Given the description of an element on the screen output the (x, y) to click on. 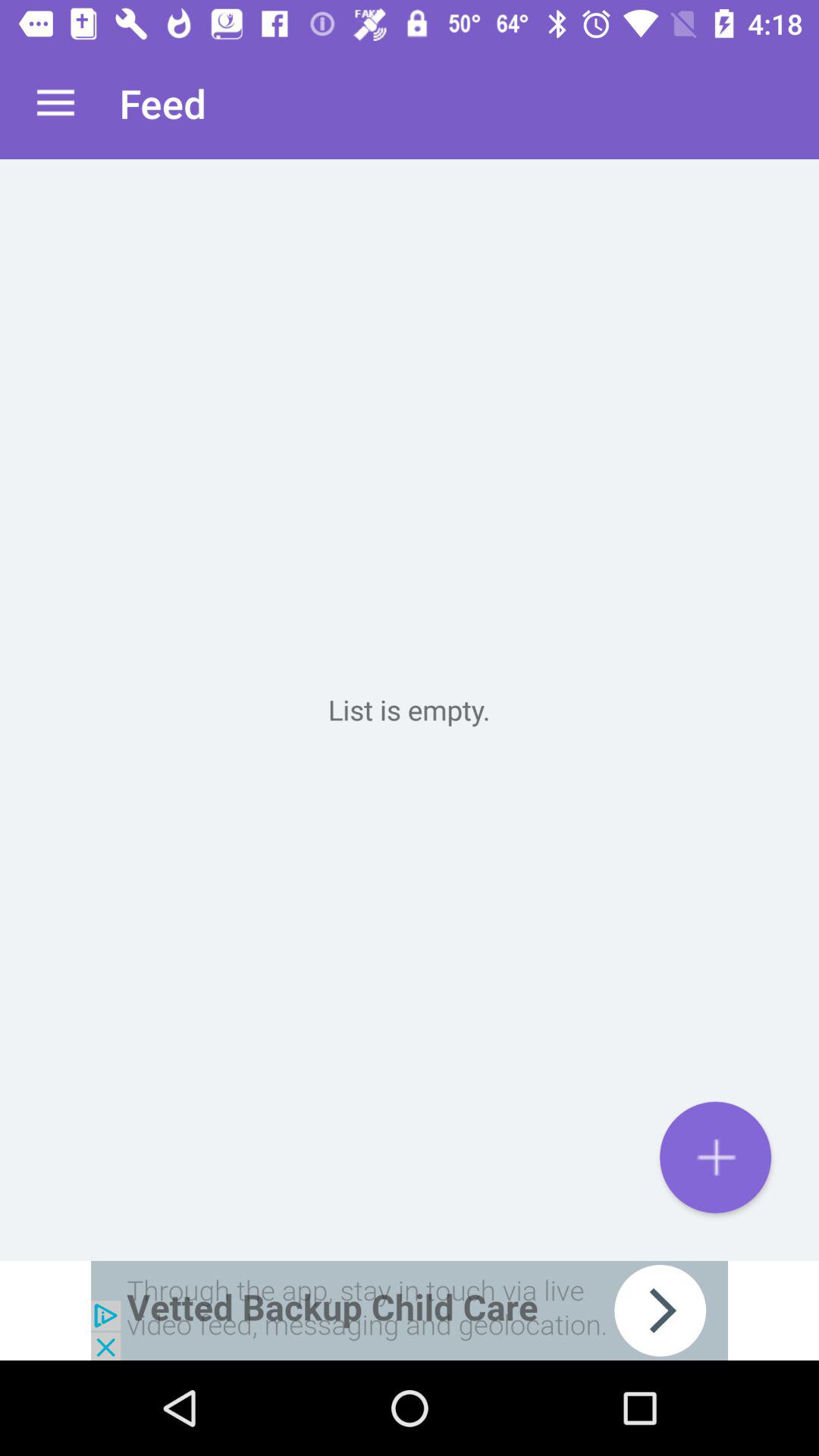
description (409, 709)
